Given the description of an element on the screen output the (x, y) to click on. 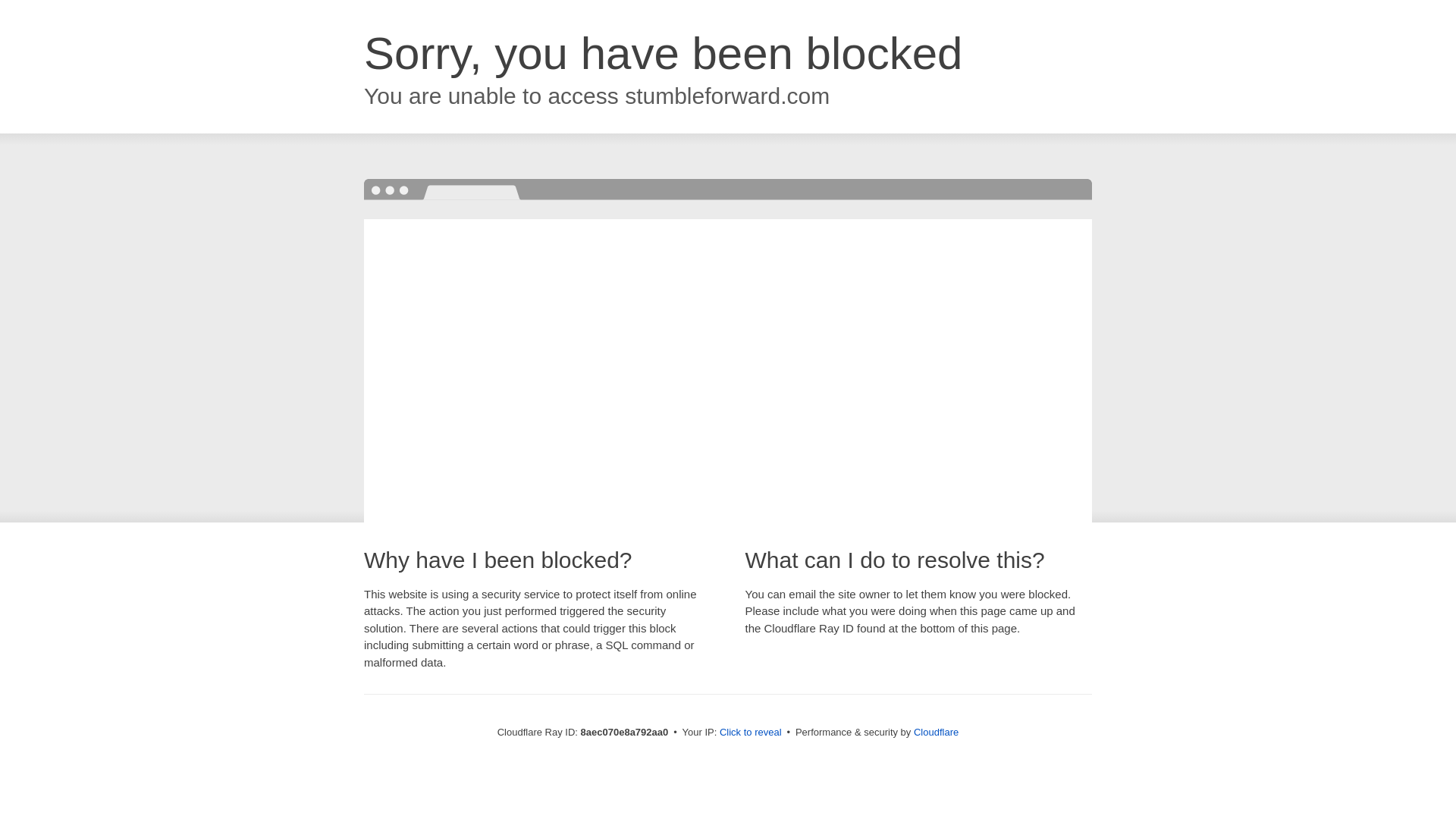
Cloudflare (936, 731)
Click to reveal (750, 732)
